Given the description of an element on the screen output the (x, y) to click on. 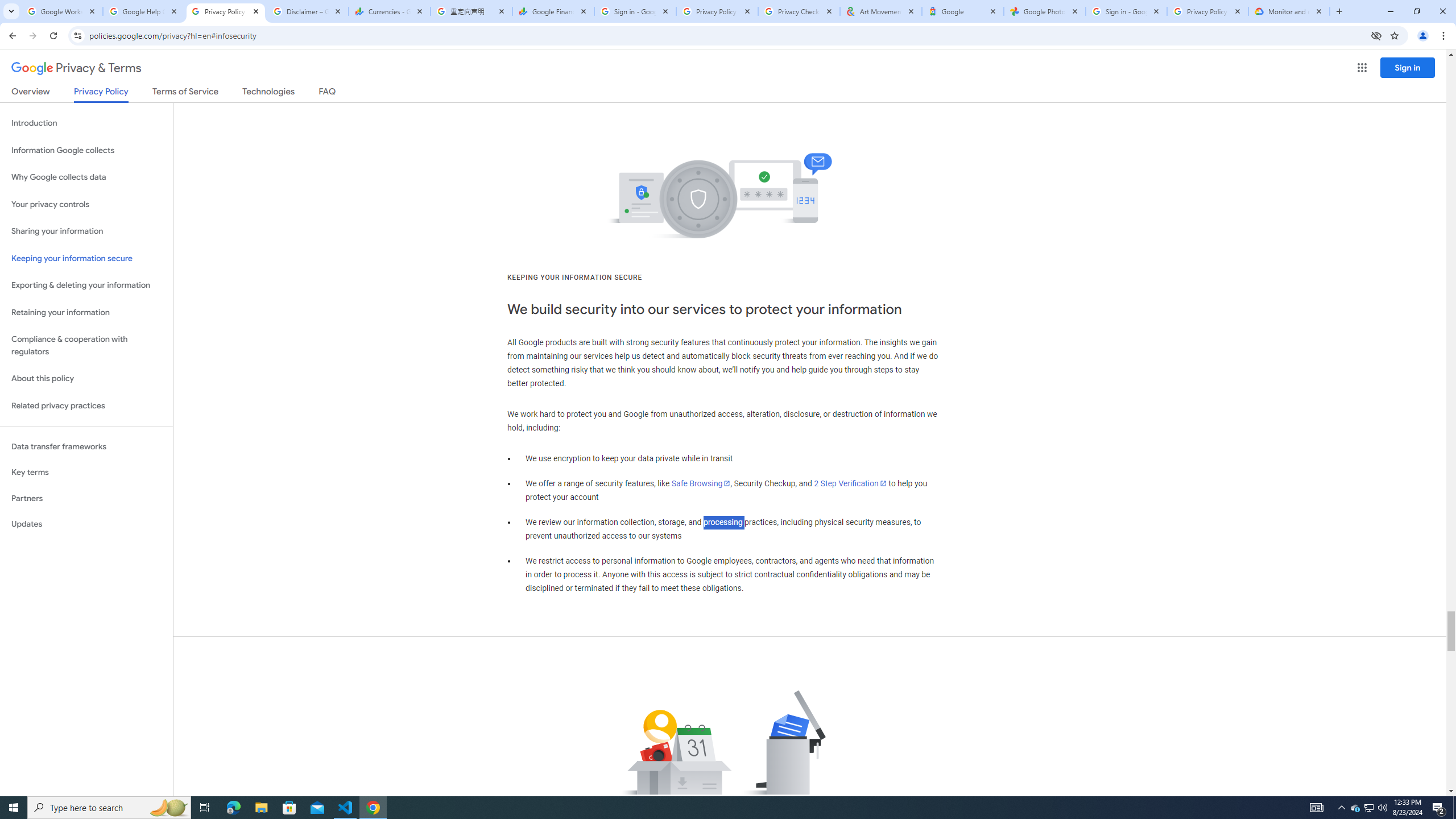
Currencies - Google Finance (389, 11)
